Given the description of an element on the screen output the (x, y) to click on. 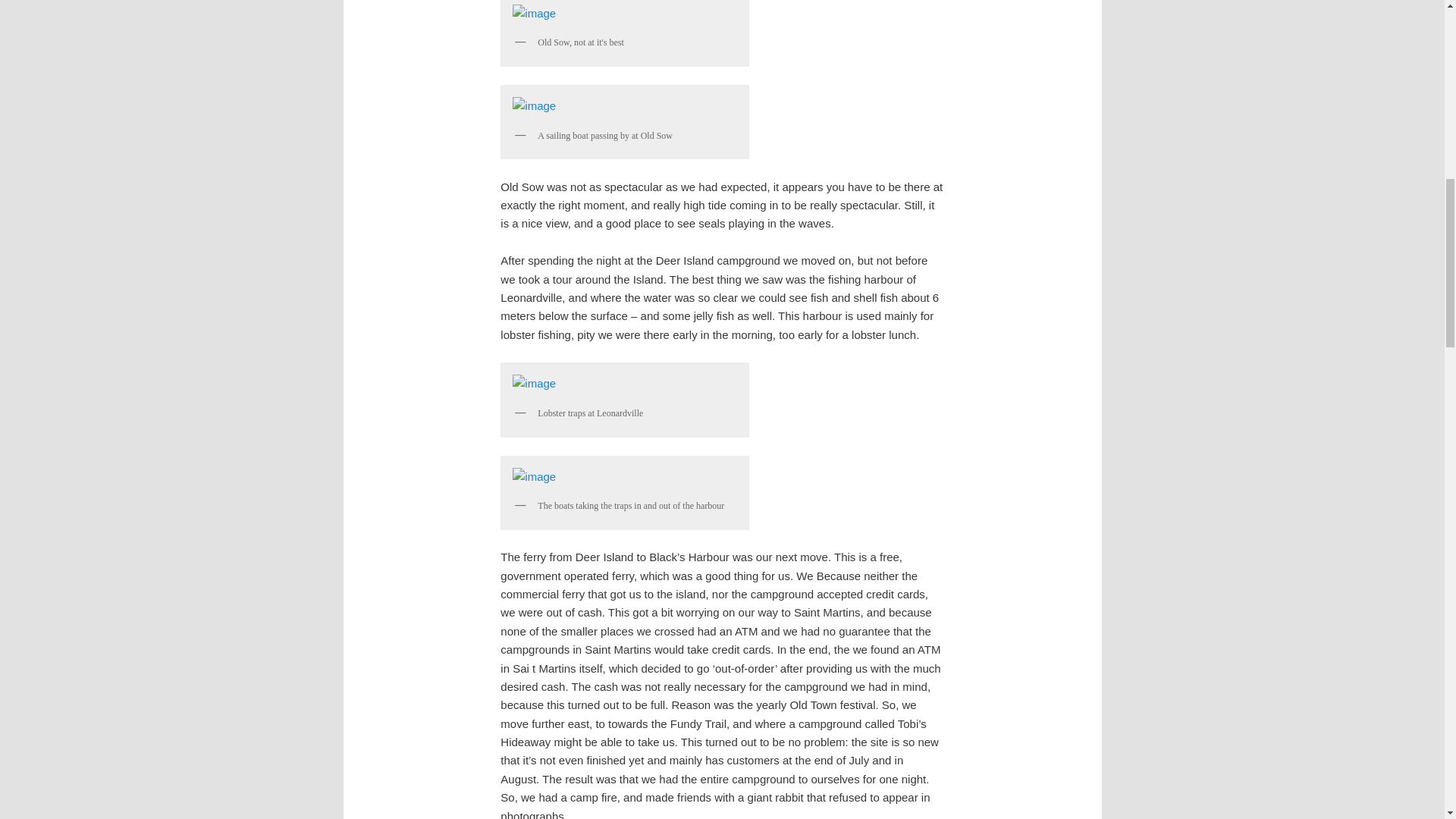
1342667637254.jpg (624, 13)
1342668349189.jpg (624, 383)
1342667773213.jpg (624, 105)
1342668484247.jpg (624, 476)
